Given the description of an element on the screen output the (x, y) to click on. 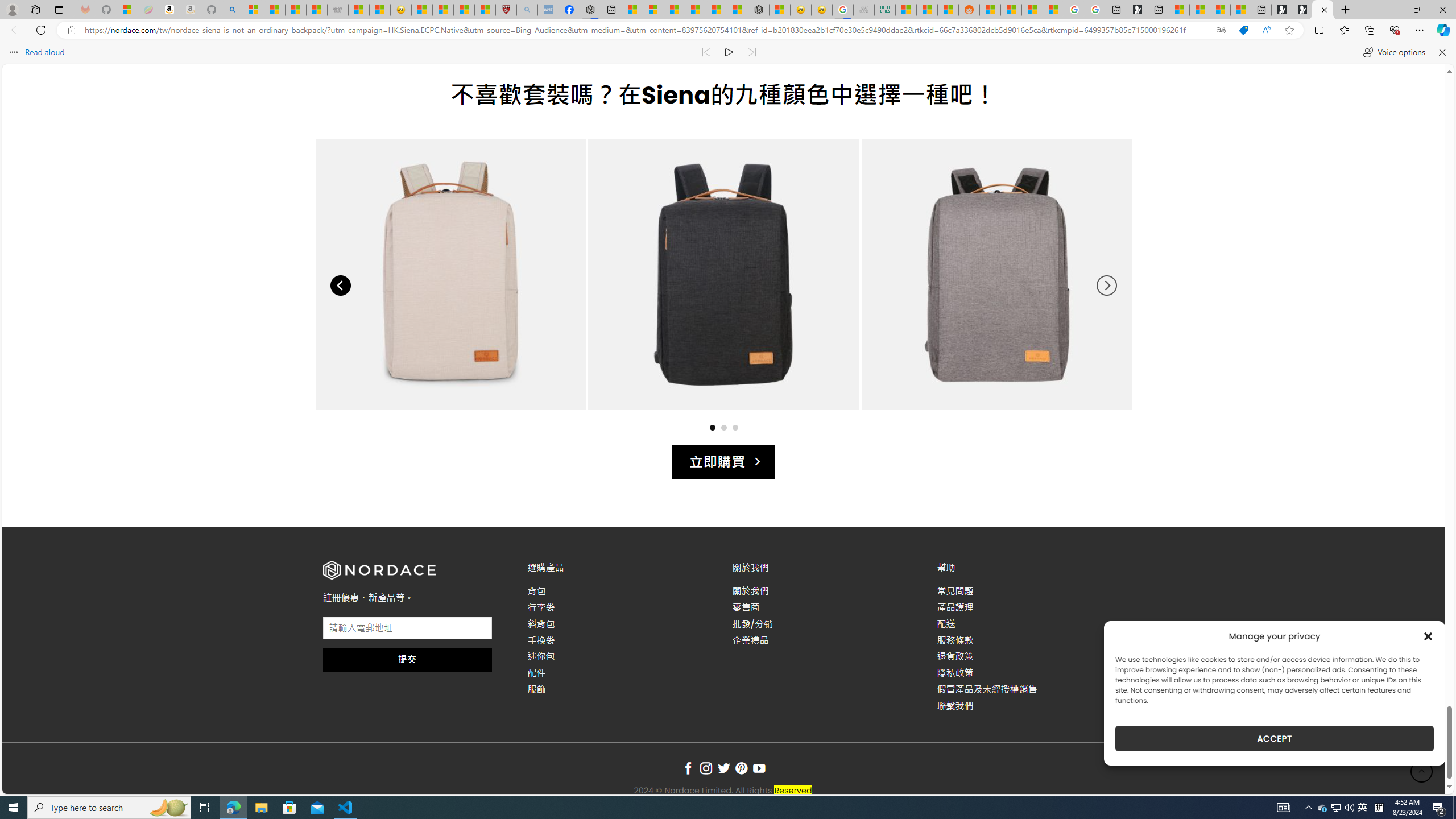
Read next paragraph (750, 52)
AutomationID: field_4_1 (406, 628)
Page dot 1 (711, 427)
Next (1106, 285)
